Given the description of an element on the screen output the (x, y) to click on. 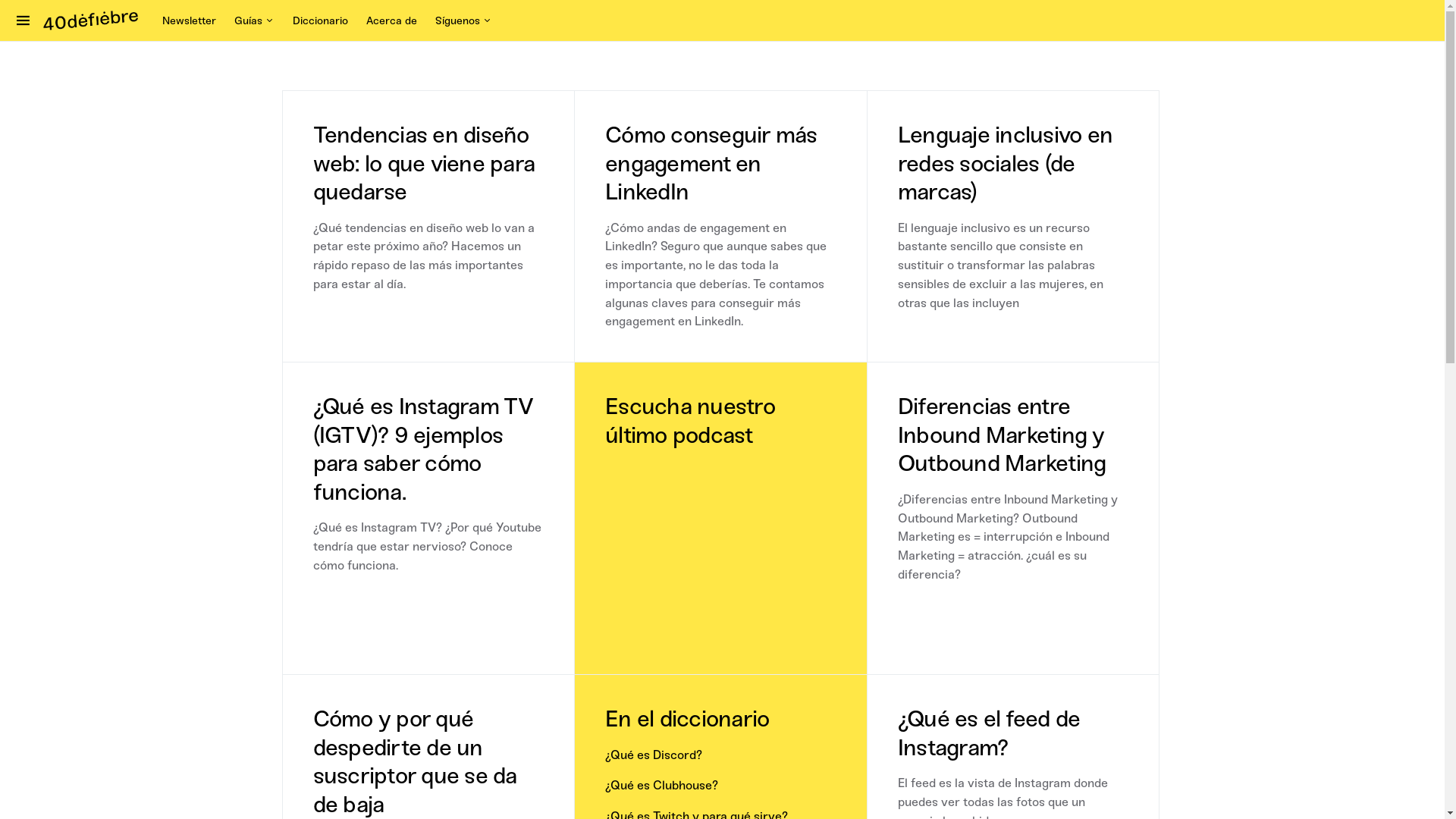
Newsletter Element type: text (193, 20)
Lenguaje inclusivo en redes sociales (de marcas) Element type: text (1004, 163)
Acerca de Element type: text (391, 20)
Diccionario Element type: text (320, 20)
Spotify Embed: Delirios de 40deFiebre Element type: hover (720, 549)
En el diccionario Element type: text (686, 718)
Diferencias entre Inbound Marketing y Outbound Marketing Element type: text (1001, 434)
